Given the description of an element on the screen output the (x, y) to click on. 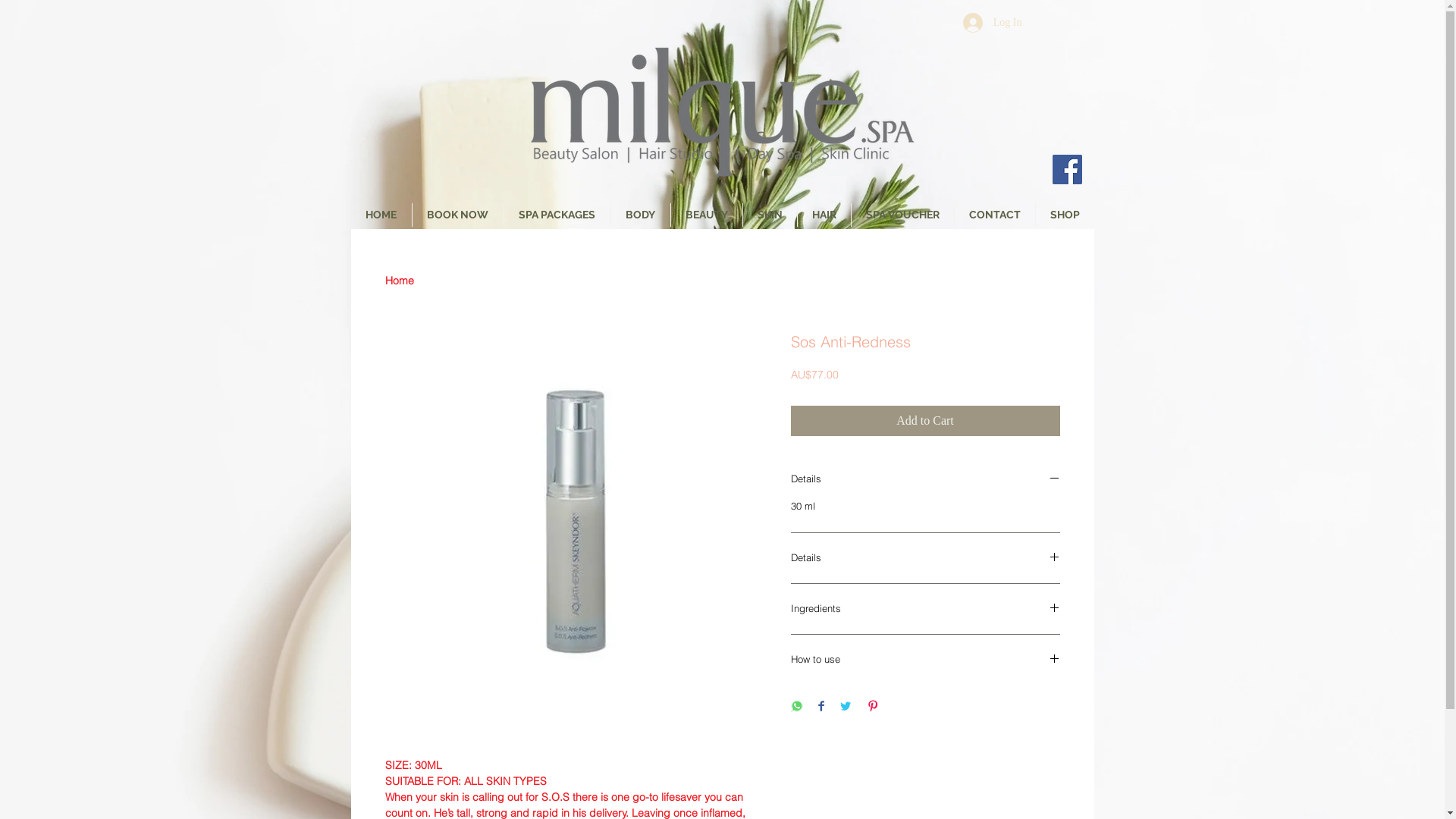
Log In Element type: text (992, 22)
HOME Element type: text (380, 214)
HAIR Element type: text (823, 214)
Add to Cart Element type: text (924, 420)
Home Element type: text (399, 280)
BOOK NOW Element type: text (457, 214)
CONTACT Element type: text (993, 214)
Details Element type: text (924, 557)
SHOP Element type: text (1064, 214)
SPA PACKAGES Element type: text (556, 214)
How to use Element type: text (924, 658)
Ingredients Element type: text (924, 608)
SPA VOUCHER Element type: text (901, 214)
Details Element type: text (924, 479)
